Given the description of an element on the screen output the (x, y) to click on. 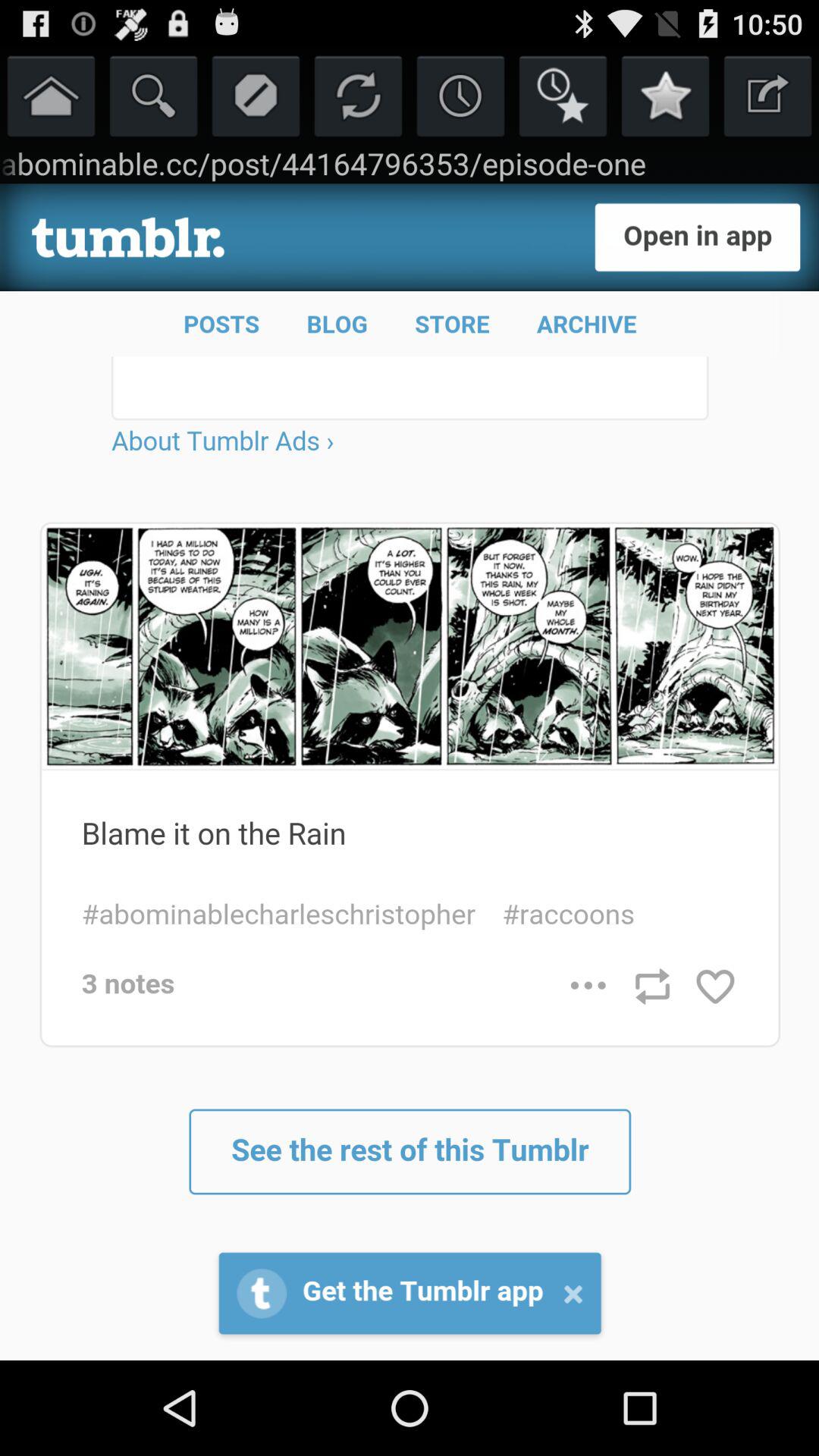
go to home page (51, 95)
